Given the description of an element on the screen output the (x, y) to click on. 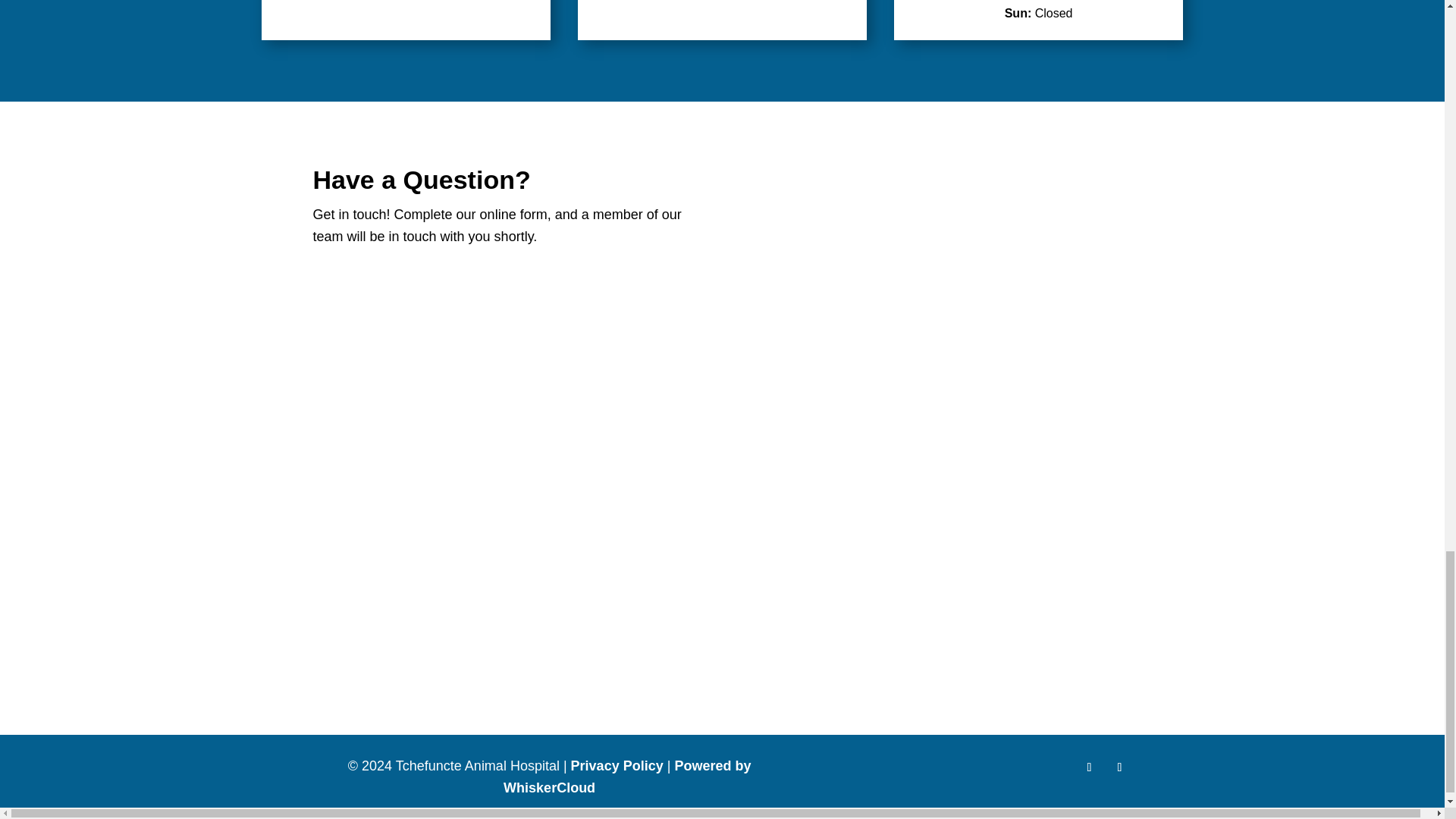
Privacy Policy (616, 765)
Follow on Facebook (1088, 767)
wpforms-submit (345, 645)
Follow on Instagram (1118, 767)
Powered by WhiskerCloud (627, 776)
